Given the description of an element on the screen output the (x, y) to click on. 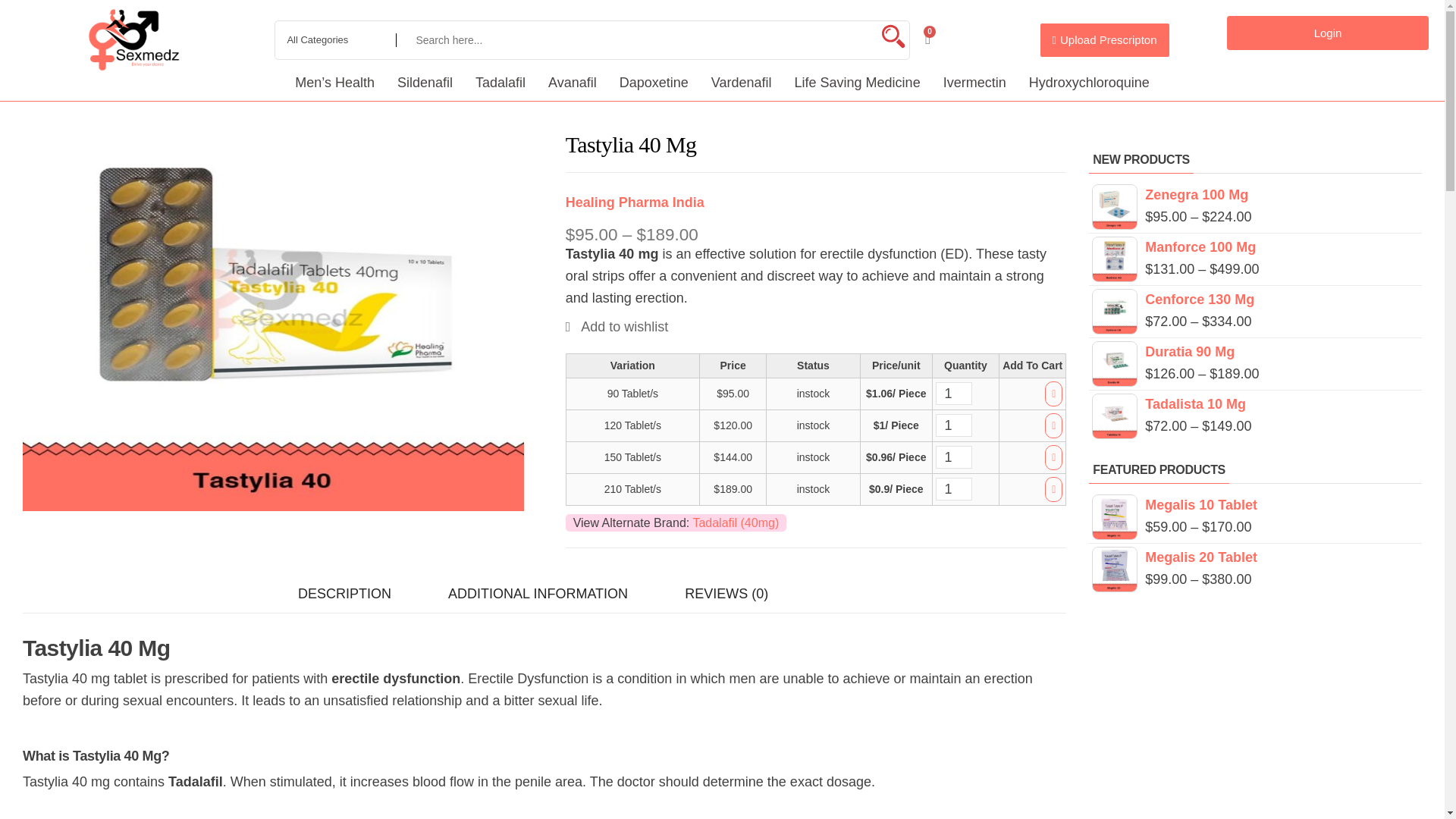
1 (954, 488)
1 (954, 425)
Add to wishlist (617, 326)
1 (954, 456)
Sildenafil (424, 82)
Login (1327, 32)
Dapoxetine (654, 82)
1 (954, 393)
DESCRIPTION (344, 593)
Avanafil (572, 82)
Hydroxychloroquine (1088, 82)
Upload Prescripton (1105, 39)
Ivermectin (974, 82)
ADDITIONAL INFORMATION (537, 593)
Vardenafil (741, 82)
